Given the description of an element on the screen output the (x, y) to click on. 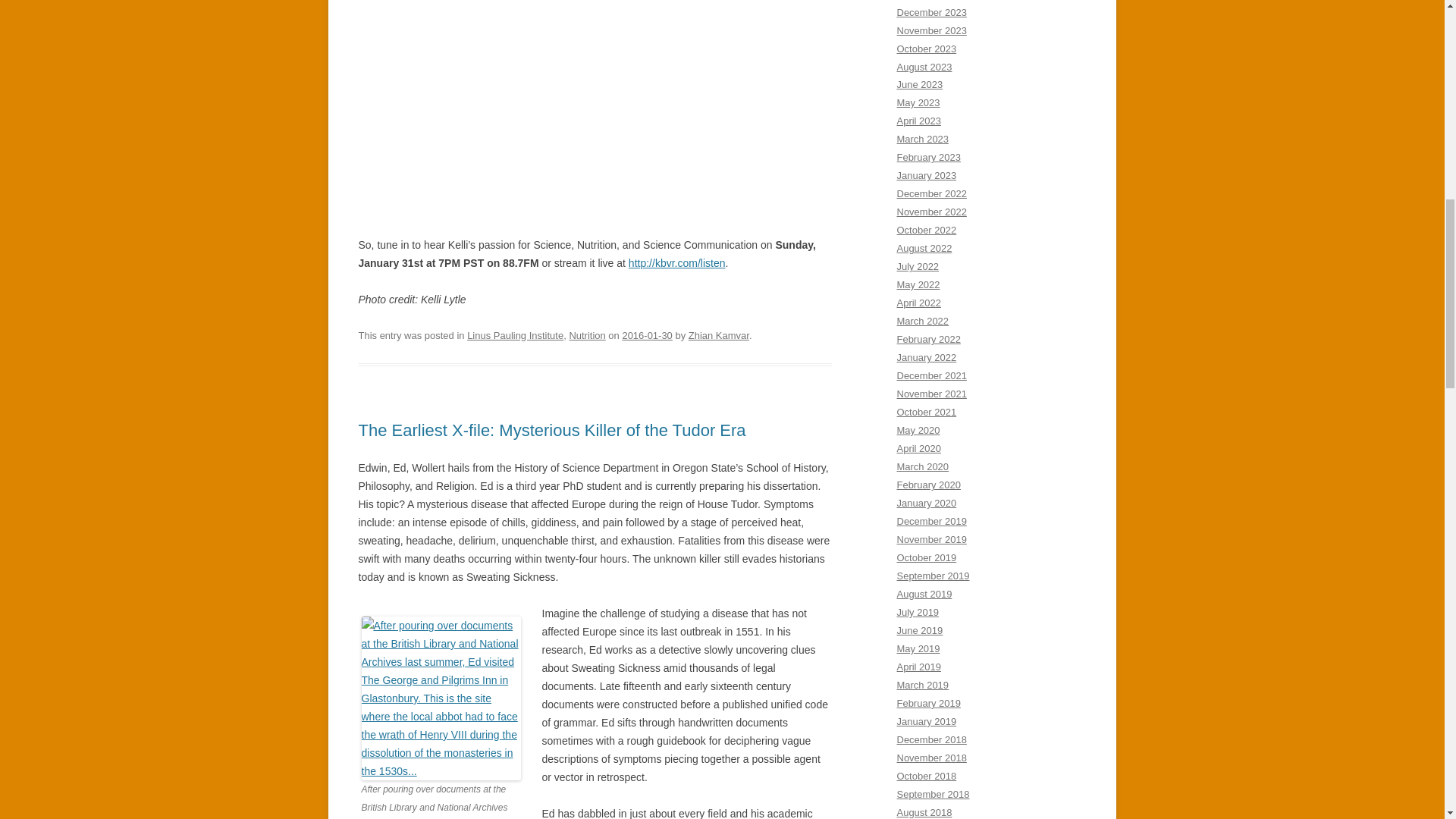
The Earliest X-file: Mysterious Killer of the Tudor Era (551, 429)
2016-01-30 (646, 335)
Zhian Kamvar (718, 335)
3:22 pm (646, 335)
Linus Pauling Institute (515, 335)
Nutrition (587, 335)
View all posts by Zhian Kamvar (718, 335)
